Given the description of an element on the screen output the (x, y) to click on. 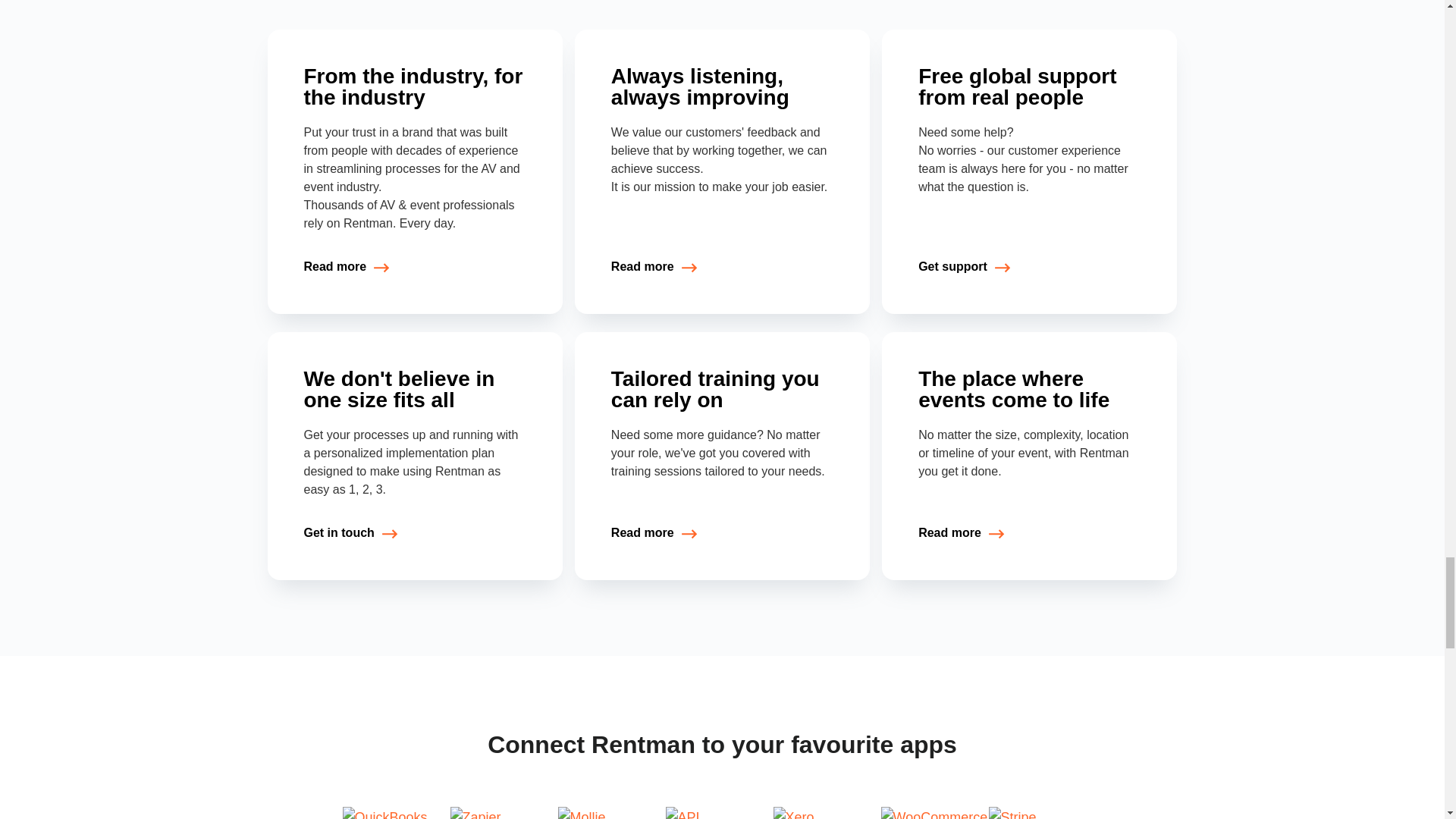
Stripe (1045, 812)
Read more (346, 266)
Read more (654, 532)
Read more (961, 532)
WooCommerce (937, 812)
Get support (964, 266)
Get in touch (349, 532)
Zapier (506, 812)
Xero (829, 812)
API (721, 812)
